Given the description of an element on the screen output the (x, y) to click on. 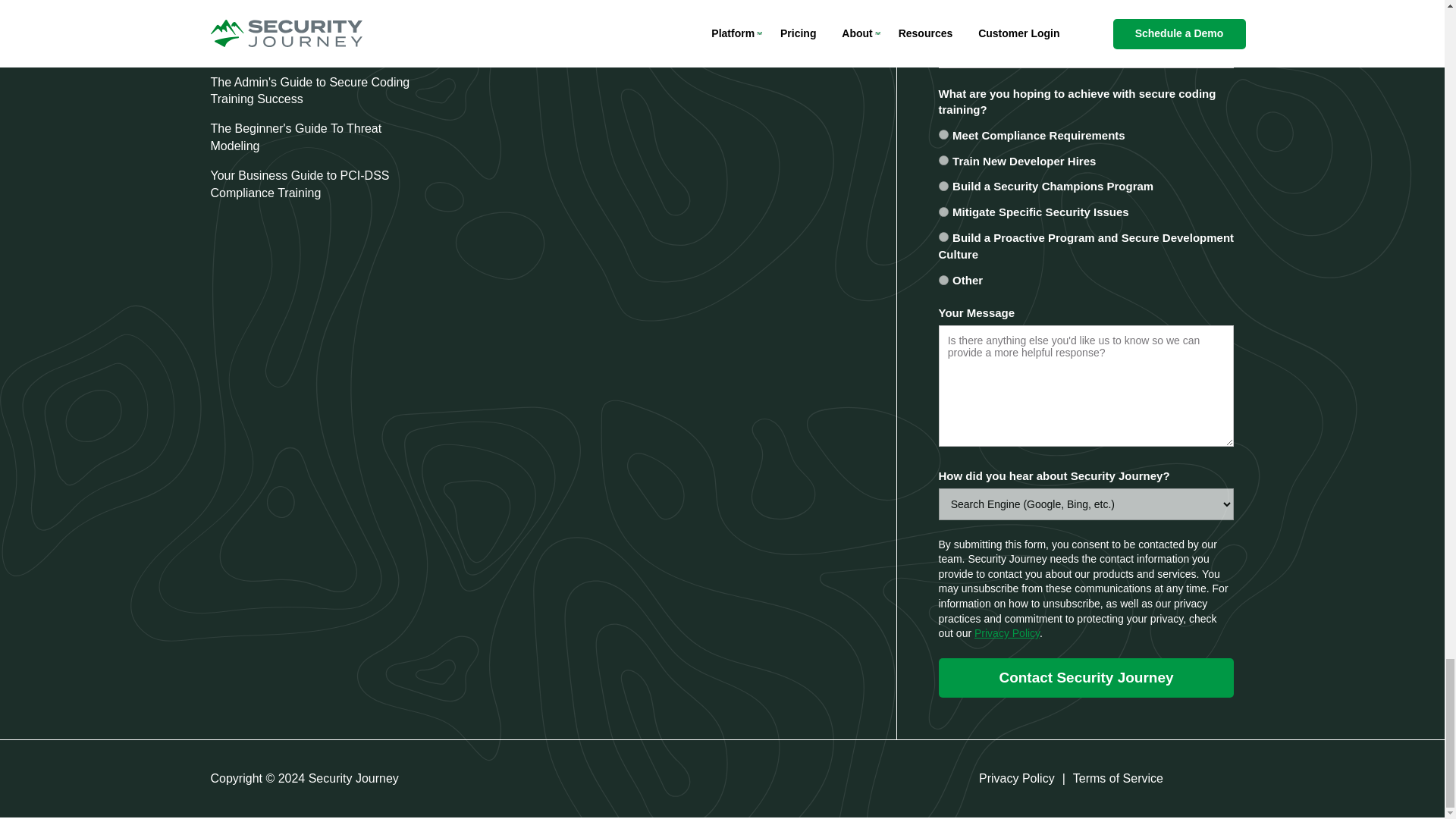
Train new developer hires (944, 160)
Contact Security Journey (1086, 677)
Other (944, 280)
Meet compliance requirements (944, 134)
Mitigate Specific Security Issues (944, 212)
Build a security champions program (944, 185)
Build a Proactive Program and Secure Development Culture (944, 236)
